Given the description of an element on the screen output the (x, y) to click on. 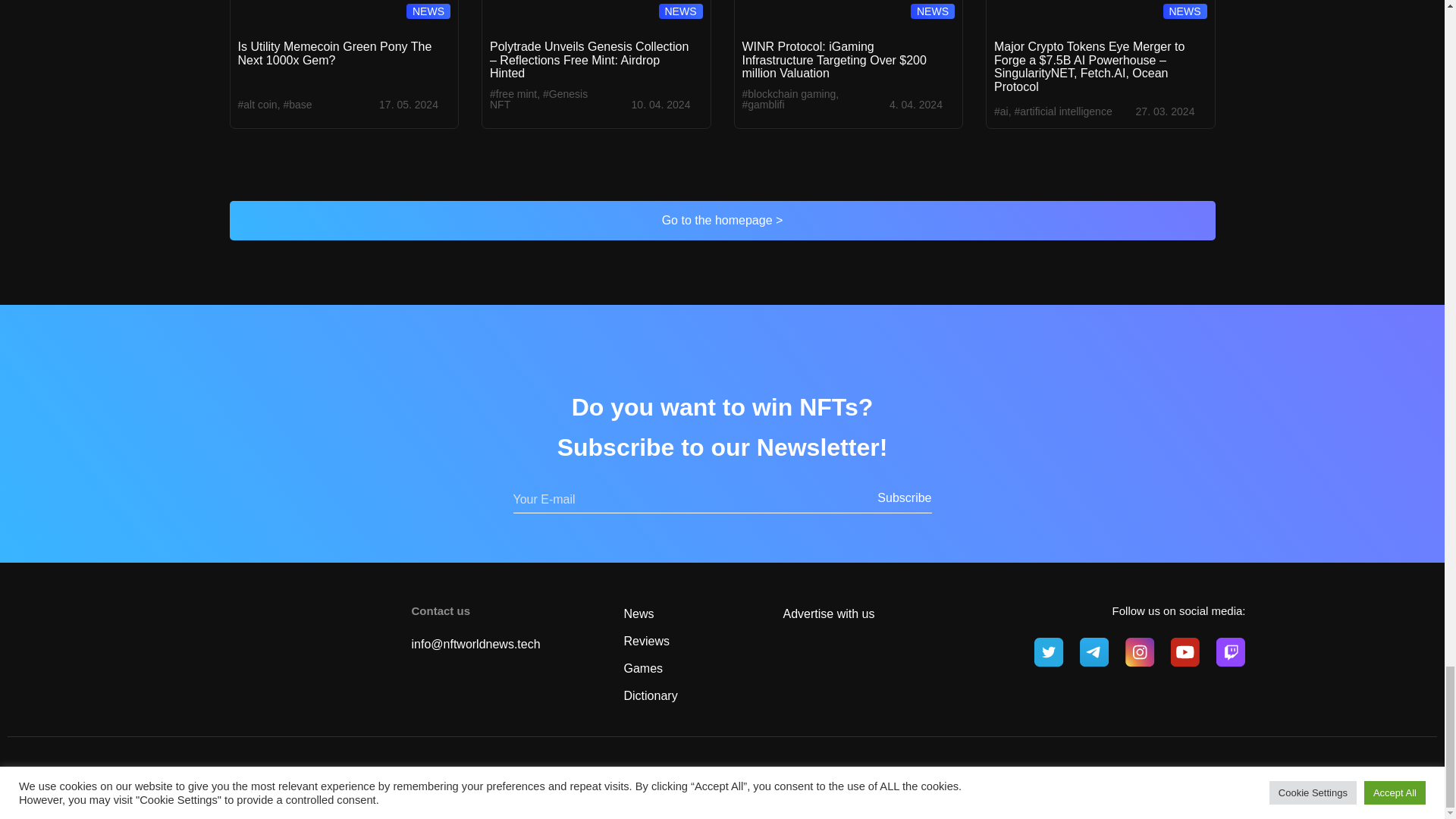
gamblifi (762, 104)
artificial intelligence (1062, 111)
base (296, 104)
free mint (513, 93)
Subscribe (898, 497)
blockchain gaming (788, 93)
ai (1001, 111)
Genesis NFT (538, 98)
alt coin (258, 104)
Is Utility Memecoin Green Pony The Next 1000x Gem? (335, 53)
